Given the description of an element on the screen output the (x, y) to click on. 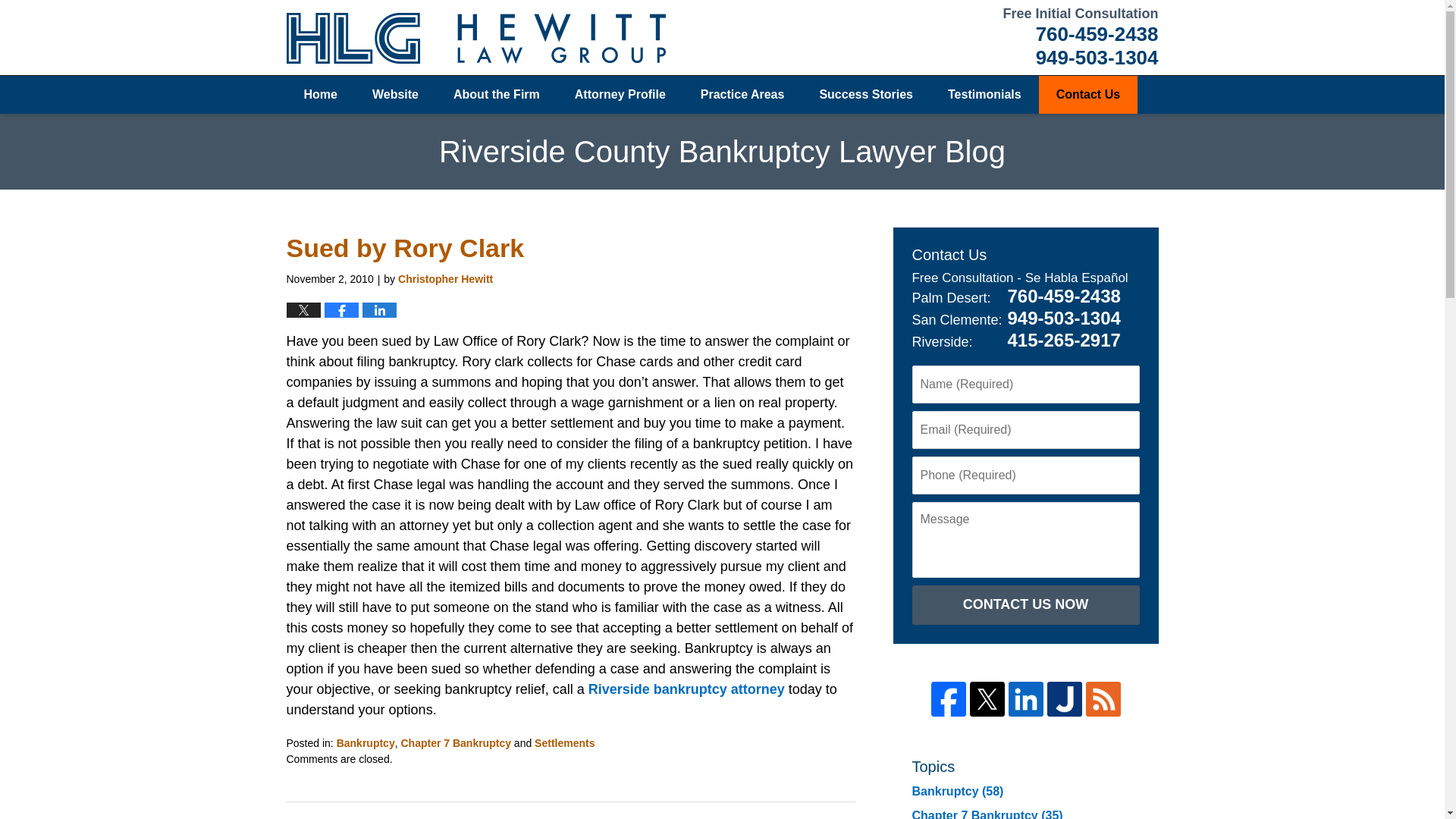
Please enter a valid phone number. (1024, 475)
LinkedIn (1026, 698)
Letters from Zwicker and Associates for collections? (443, 817)
Twitter (986, 698)
Attorney Profile (619, 94)
Settlements (564, 743)
Practice Areas (742, 94)
Riverside bankruptcy attorney (687, 688)
View all posts in Chapter 7 Bankruptcy (455, 743)
Testimonials (984, 94)
Chapter 7 Bankruptcy (455, 743)
Home (320, 94)
CONTACT US NOW (1024, 604)
Success Stories (866, 94)
Website (395, 94)
